Given the description of an element on the screen output the (x, y) to click on. 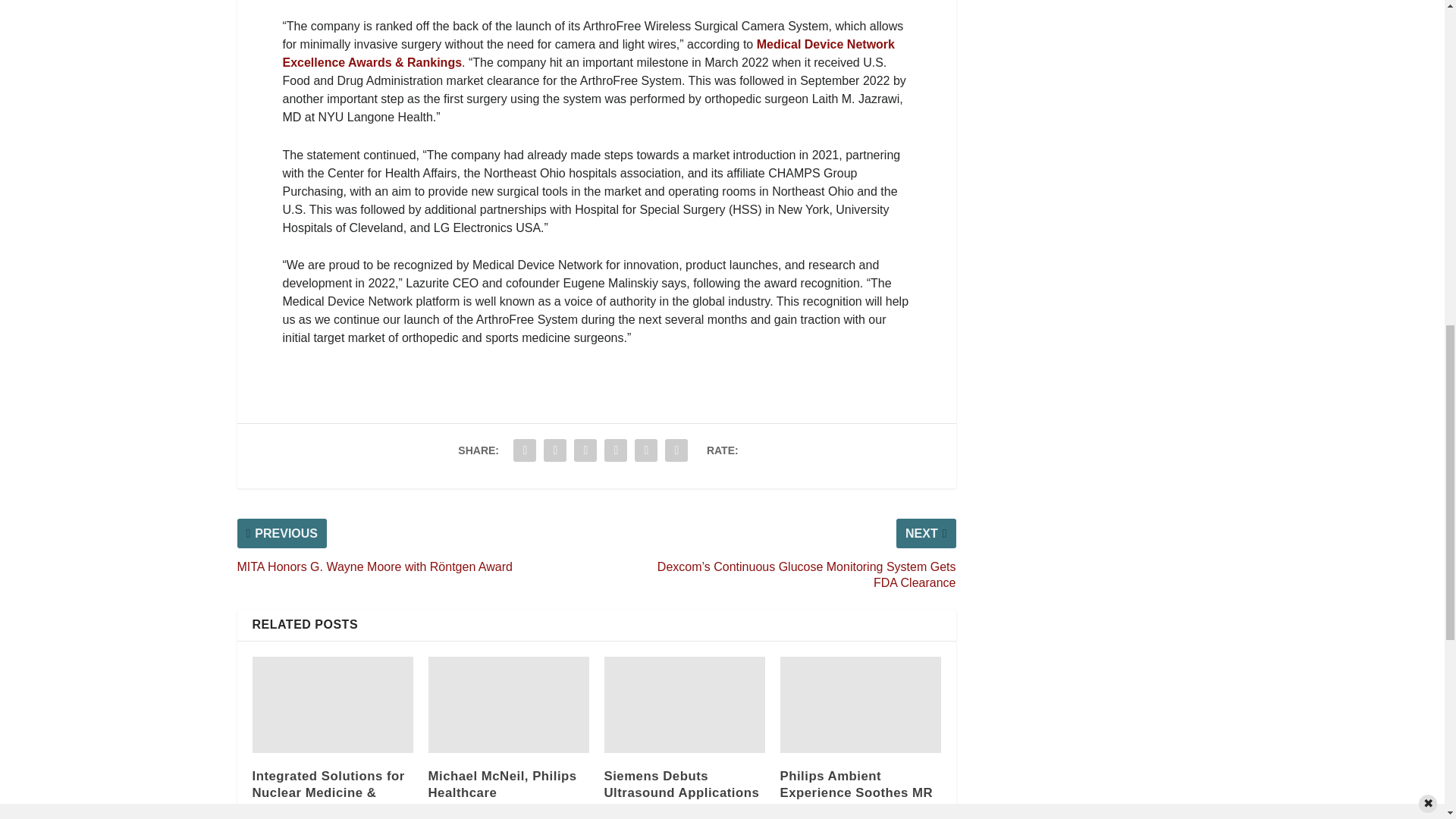
Michael McNeil, Philips Healthcare (508, 704)
Philips Ambient Experience Soothes MR Patients (859, 704)
